Given the description of an element on the screen output the (x, y) to click on. 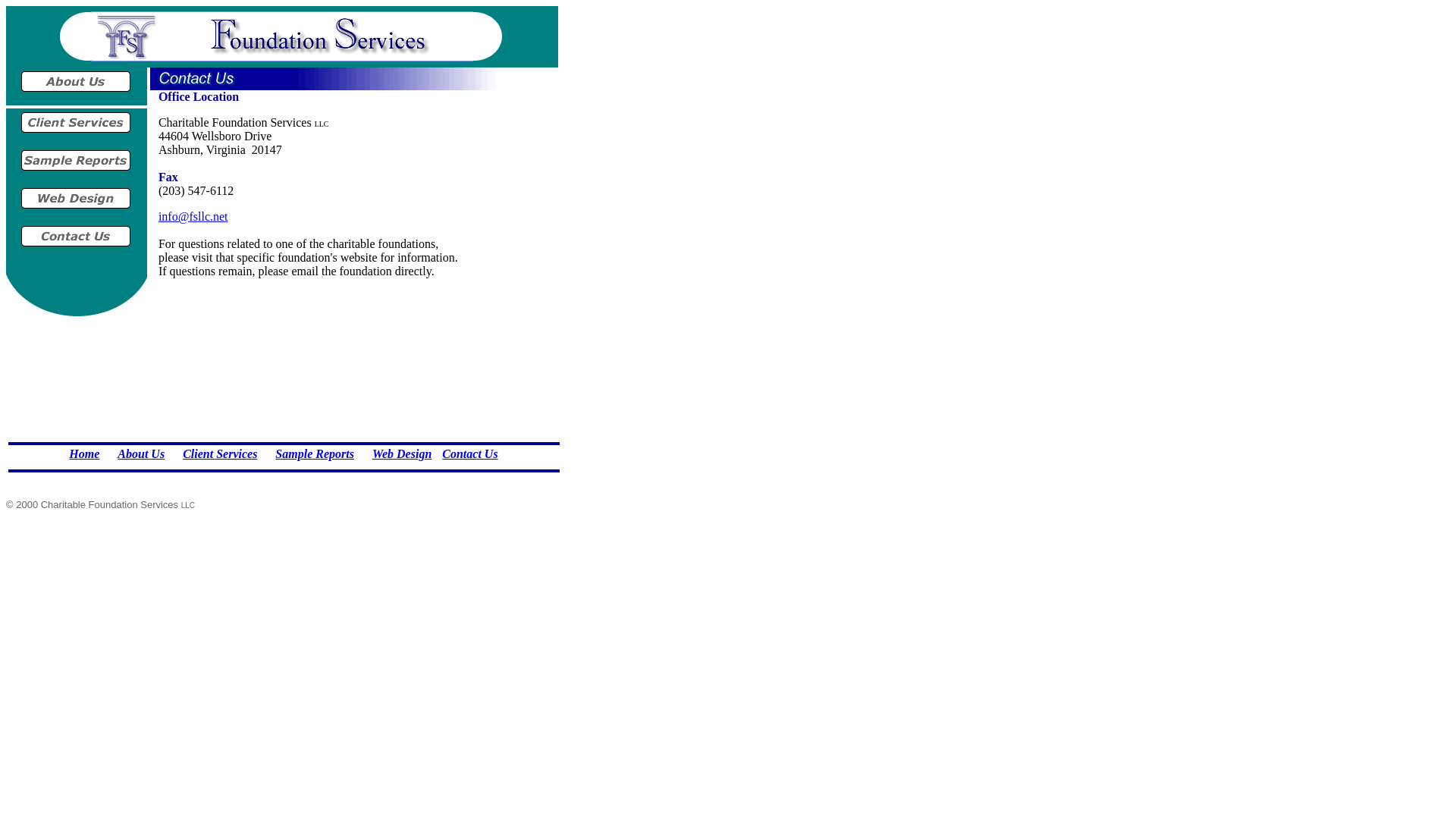
Web Design Element type: text (401, 453)
About Us Element type: text (140, 453)
Home Element type: text (84, 453)
Contact Us Element type: text (469, 453)
Client Services Element type: text (219, 453)
Sample Reports Element type: text (314, 453)
info@fsllc.net Element type: text (193, 216)
